Given the description of an element on the screen output the (x, y) to click on. 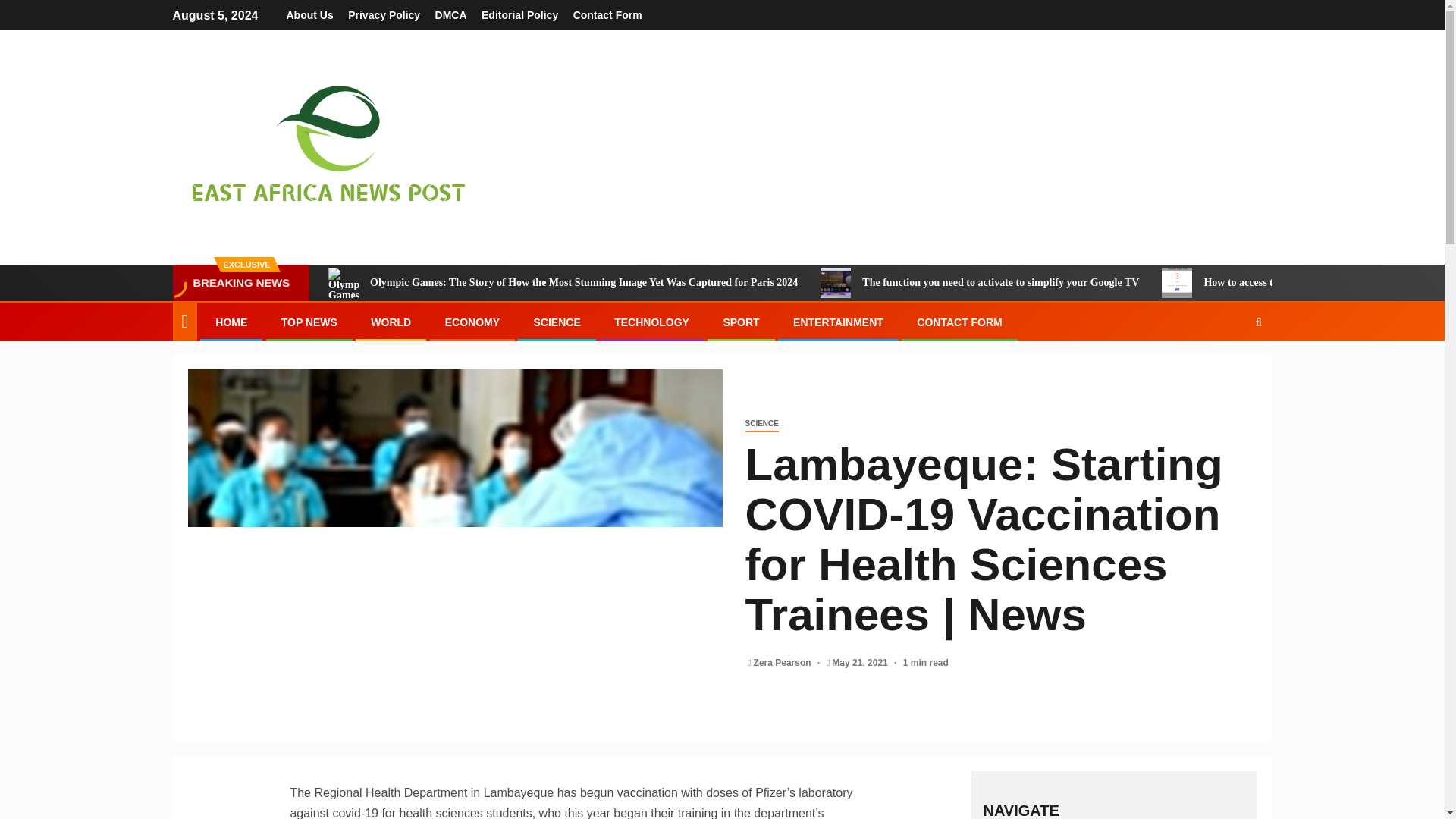
The function you need to activate to simplify your Google TV (835, 282)
SCIENCE (760, 424)
ENTERTAINMENT (838, 322)
Zera Pearson (783, 662)
Search (1229, 368)
TECHNOLOGY (651, 322)
The function you need to activate to simplify your Google TV (979, 282)
HOME (231, 322)
Contact Form (607, 15)
About Us (309, 15)
Editorial Policy (519, 15)
TOP NEWS (309, 322)
SPORT (740, 322)
